Given the description of an element on the screen output the (x, y) to click on. 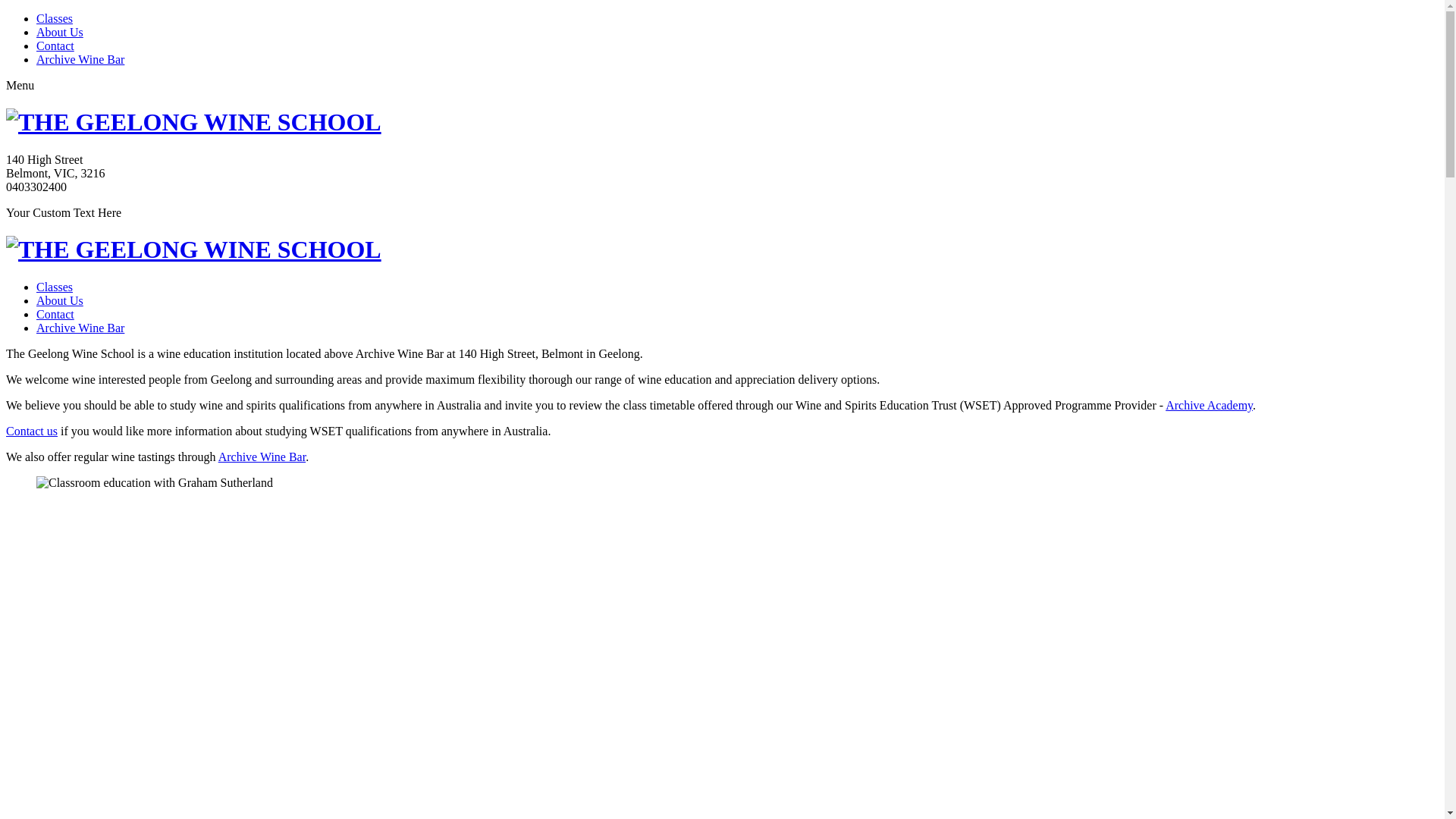
Menu Element type: text (20, 84)
Archive Wine Bar Element type: text (80, 327)
Archive Wine Bar Element type: text (80, 59)
About Us Element type: text (59, 300)
Archive Academy Element type: text (1208, 404)
Contact Element type: text (55, 45)
Archive Wine Bar Element type: text (261, 456)
About Us Element type: text (59, 31)
Classes Element type: text (54, 18)
Contact us Element type: text (31, 430)
Contact Element type: text (55, 313)
Classes Element type: text (54, 286)
